Given the description of an element on the screen output the (x, y) to click on. 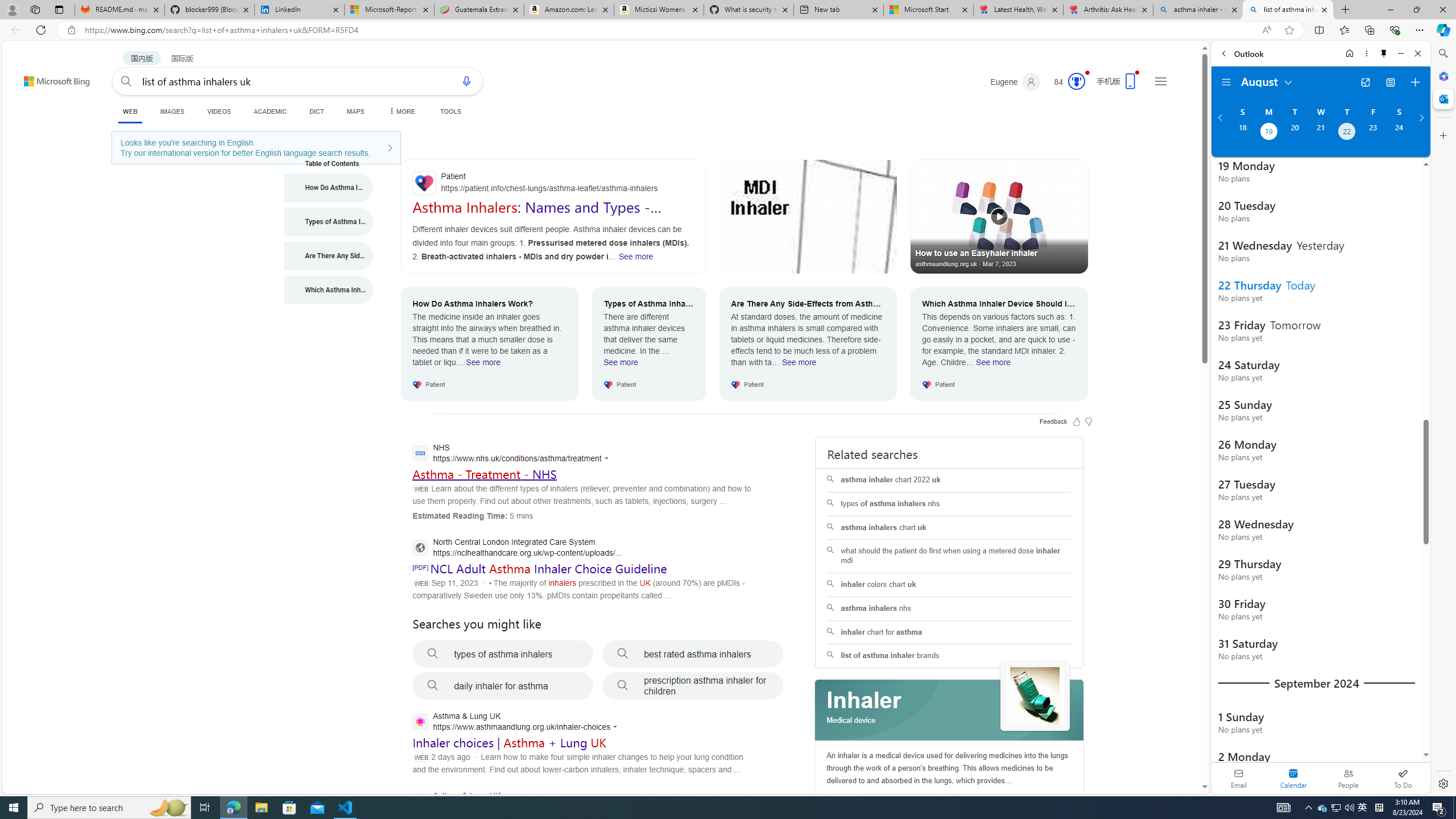
Inhaler choices | Asthma + Lung UK (509, 742)
Settings and quick links (1160, 80)
To Do (1402, 777)
Email (1238, 777)
Selected calendar module. Date today is 22 (1293, 777)
Asthma - Treatment - NHS (484, 473)
